Given the description of an element on the screen output the (x, y) to click on. 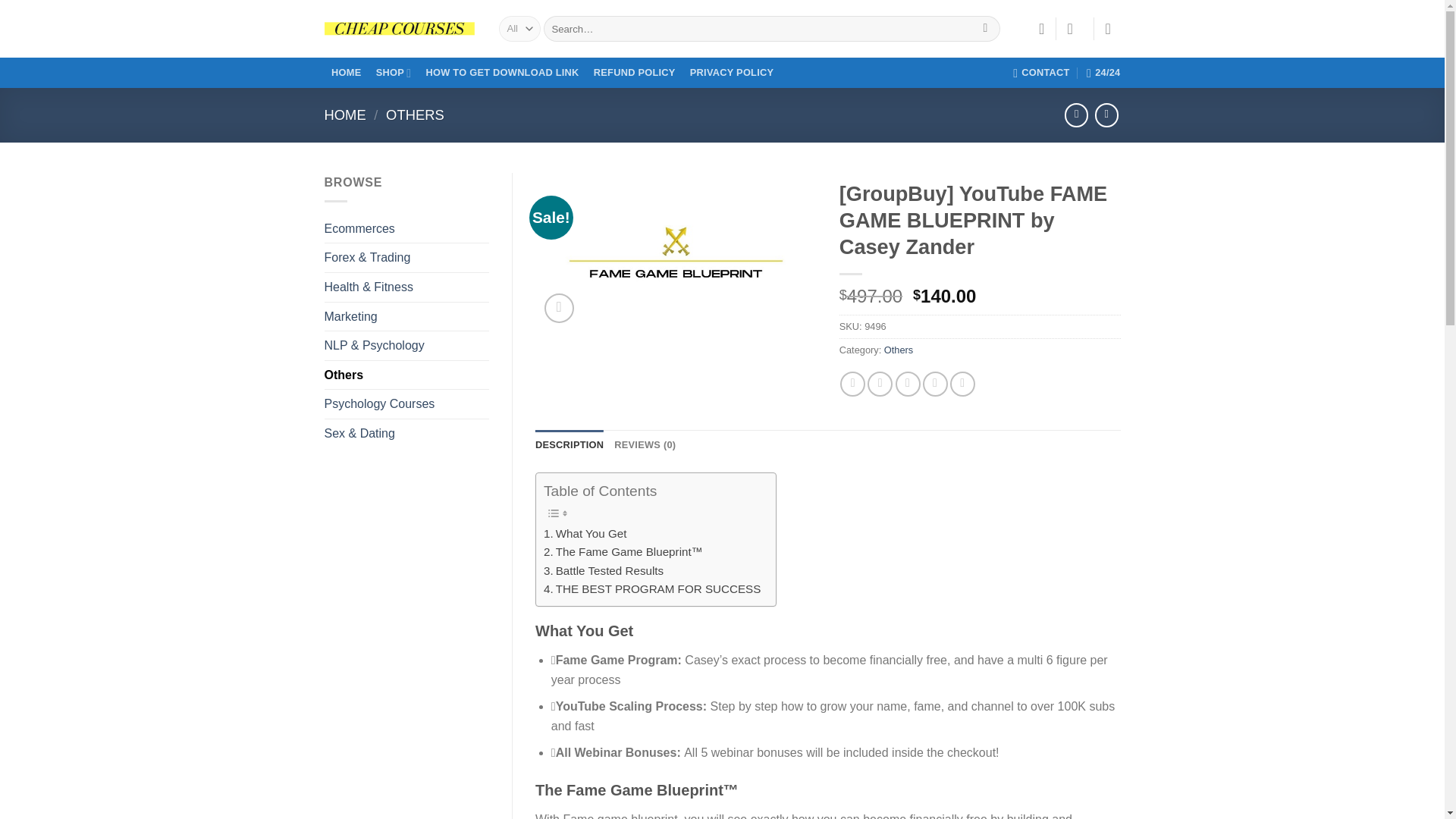
Others (406, 375)
Zoom (558, 307)
OTHERS (414, 114)
Share on Facebook (852, 383)
Search (984, 28)
YouTube FAME GAME BLUEPRINT by Casey Zander (675, 251)
HOME (345, 114)
Cheap Courses - Best Cheap Courses (400, 28)
Marketing (406, 316)
Ecommerces (406, 228)
PRIVACY POLICY (731, 72)
REFUND POLICY (634, 72)
Pin on Pinterest (935, 383)
Psychology Courses (406, 403)
CONTACT (1041, 72)
